Given the description of an element on the screen output the (x, y) to click on. 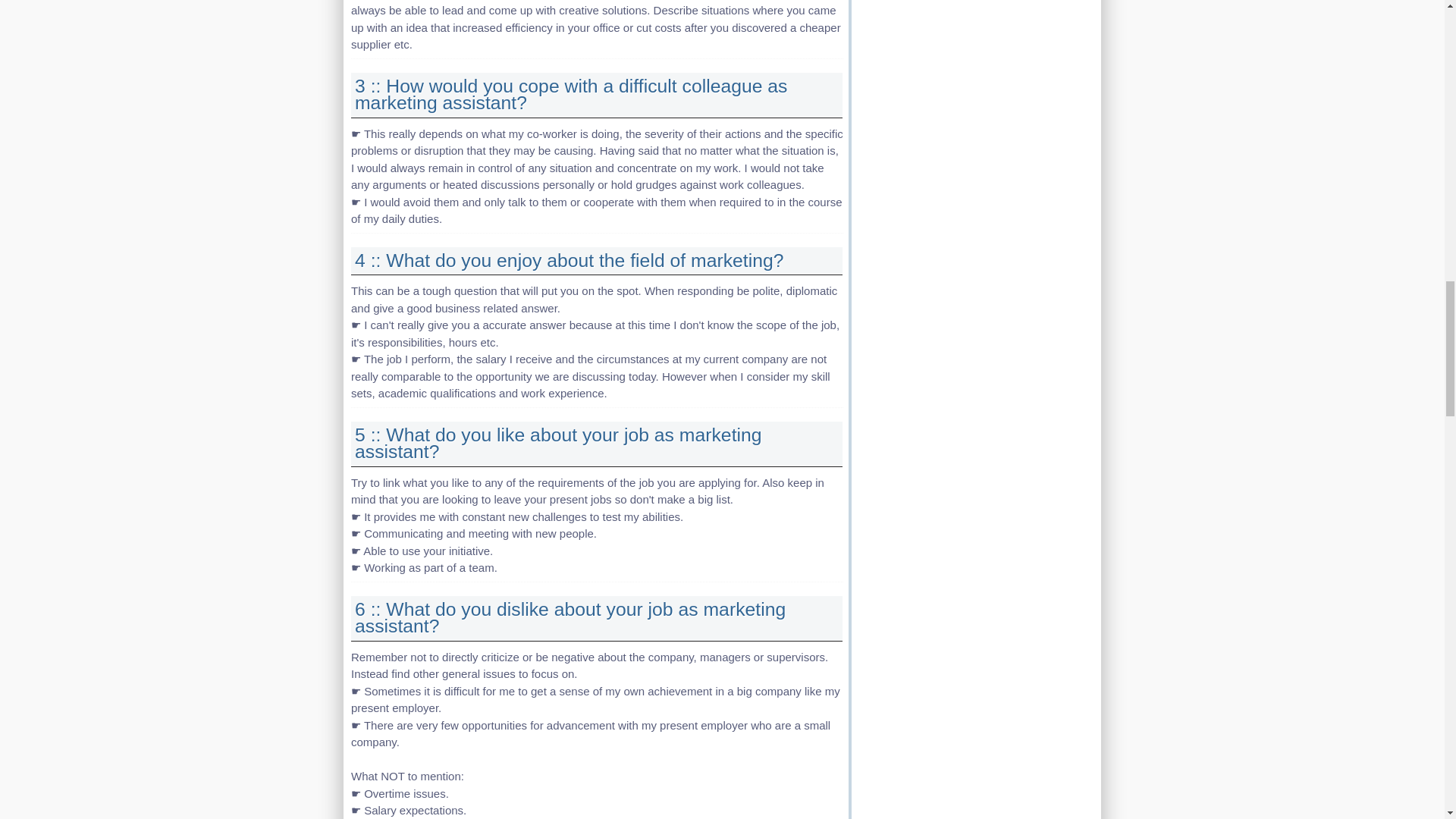
View all Answers (569, 260)
View all Answers (571, 94)
View all Answers (570, 617)
View all Answers (558, 443)
